Given the description of an element on the screen output the (x, y) to click on. 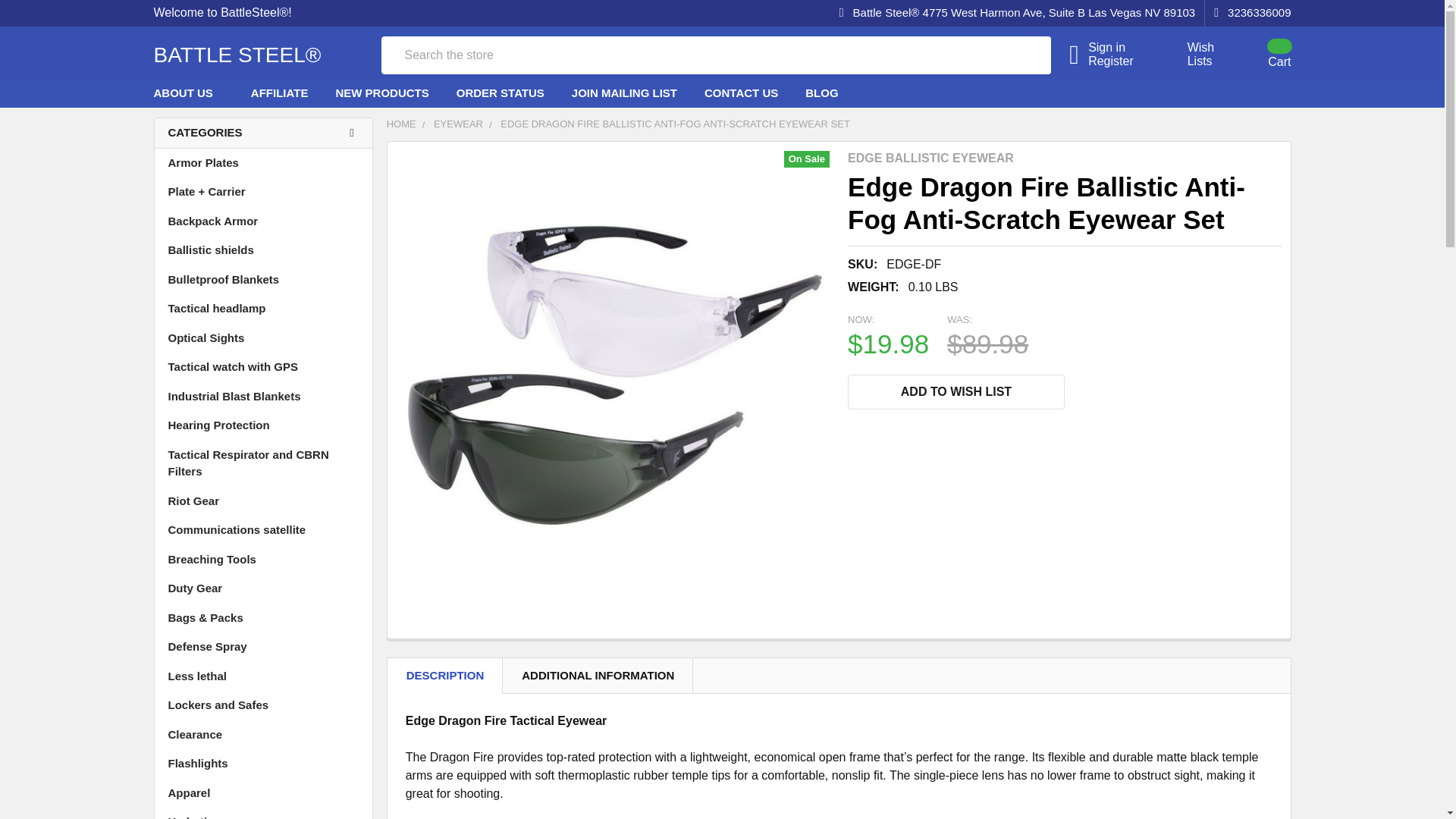
Twitter (957, 431)
Email (893, 431)
Facebook (861, 431)
Cart (1260, 54)
Pinterest (989, 431)
Sign in (1119, 47)
Register (1119, 60)
Search (1003, 55)
3236336009 (1247, 13)
